Given the description of an element on the screen output the (x, y) to click on. 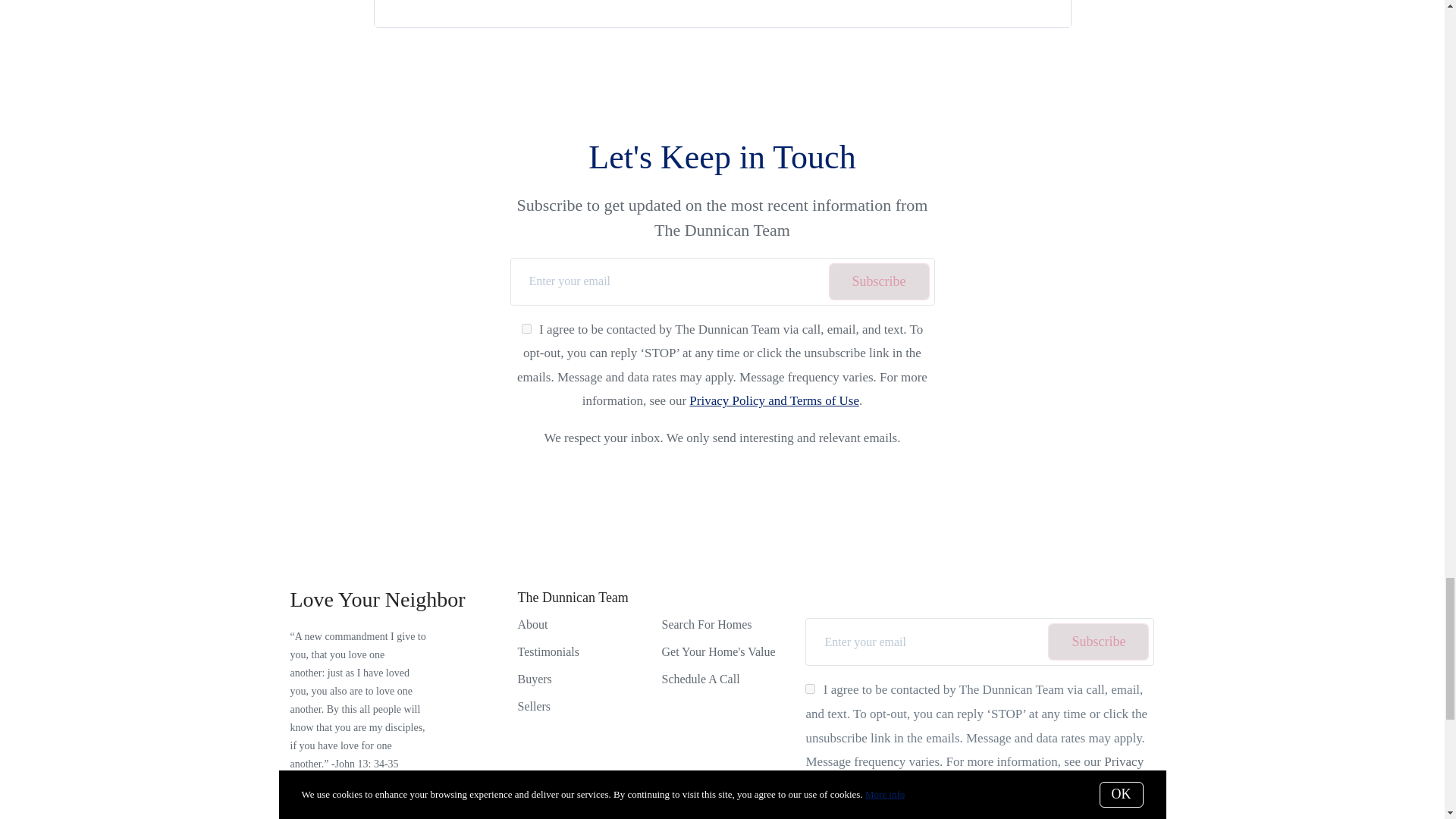
on (810, 688)
Sellers (533, 706)
Privacy Policy and Terms of Use (773, 400)
Testimonials (547, 651)
on (526, 328)
About (531, 624)
Buyers (533, 678)
Subscribe (878, 281)
